Given the description of an element on the screen output the (x, y) to click on. 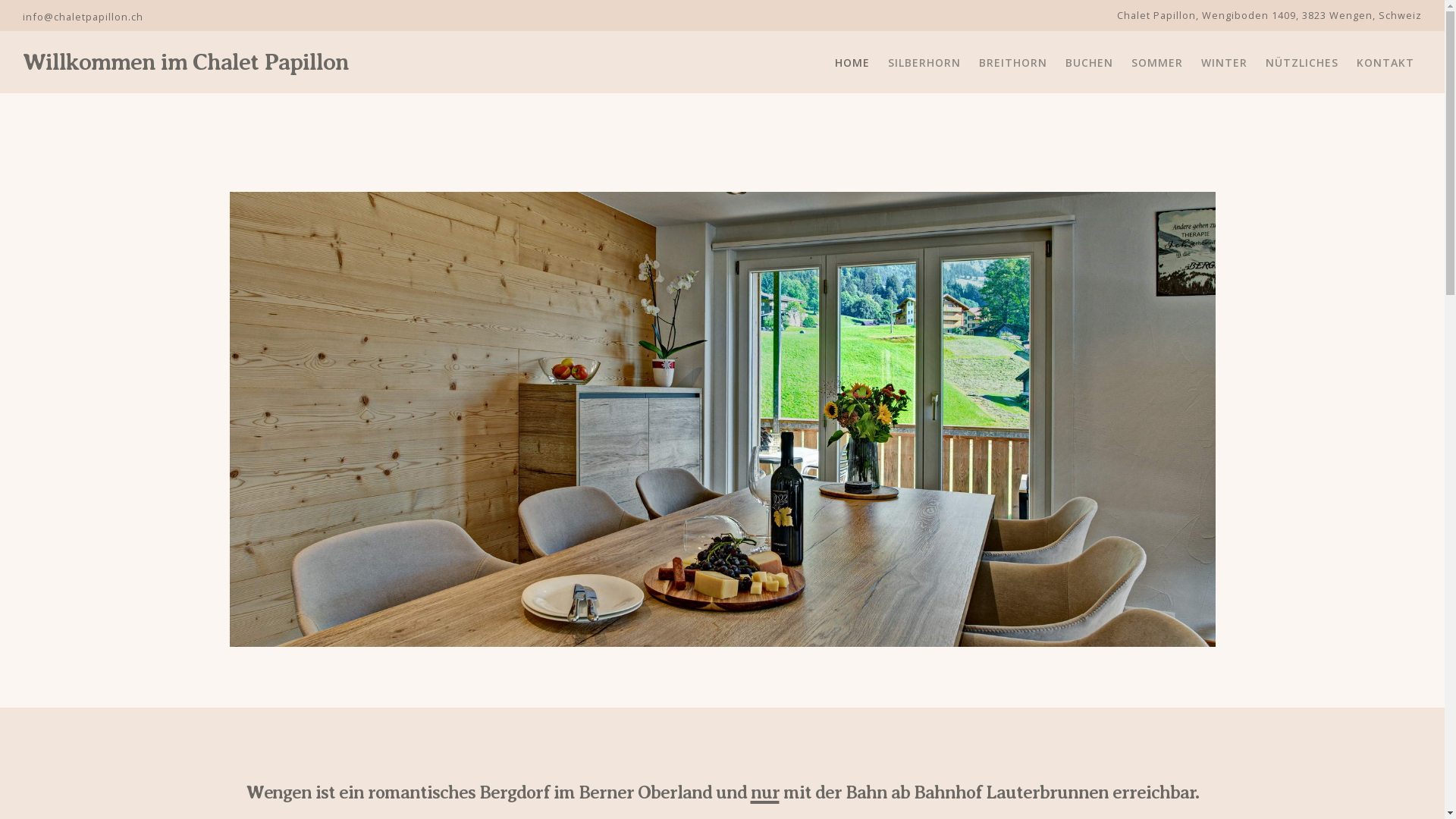
BUCHEN Element type: text (1088, 62)
info@chaletpapillon.ch Element type: text (82, 16)
SILBERHORN Element type: text (924, 62)
KONTAKT Element type: text (1385, 62)
Willkommen im Chalet Papillon Element type: text (185, 62)
BREITHORN Element type: text (1012, 62)
SOMMER Element type: text (1156, 62)
WINTER Element type: text (1224, 62)
HOME Element type: text (852, 62)
